Given the description of an element on the screen output the (x, y) to click on. 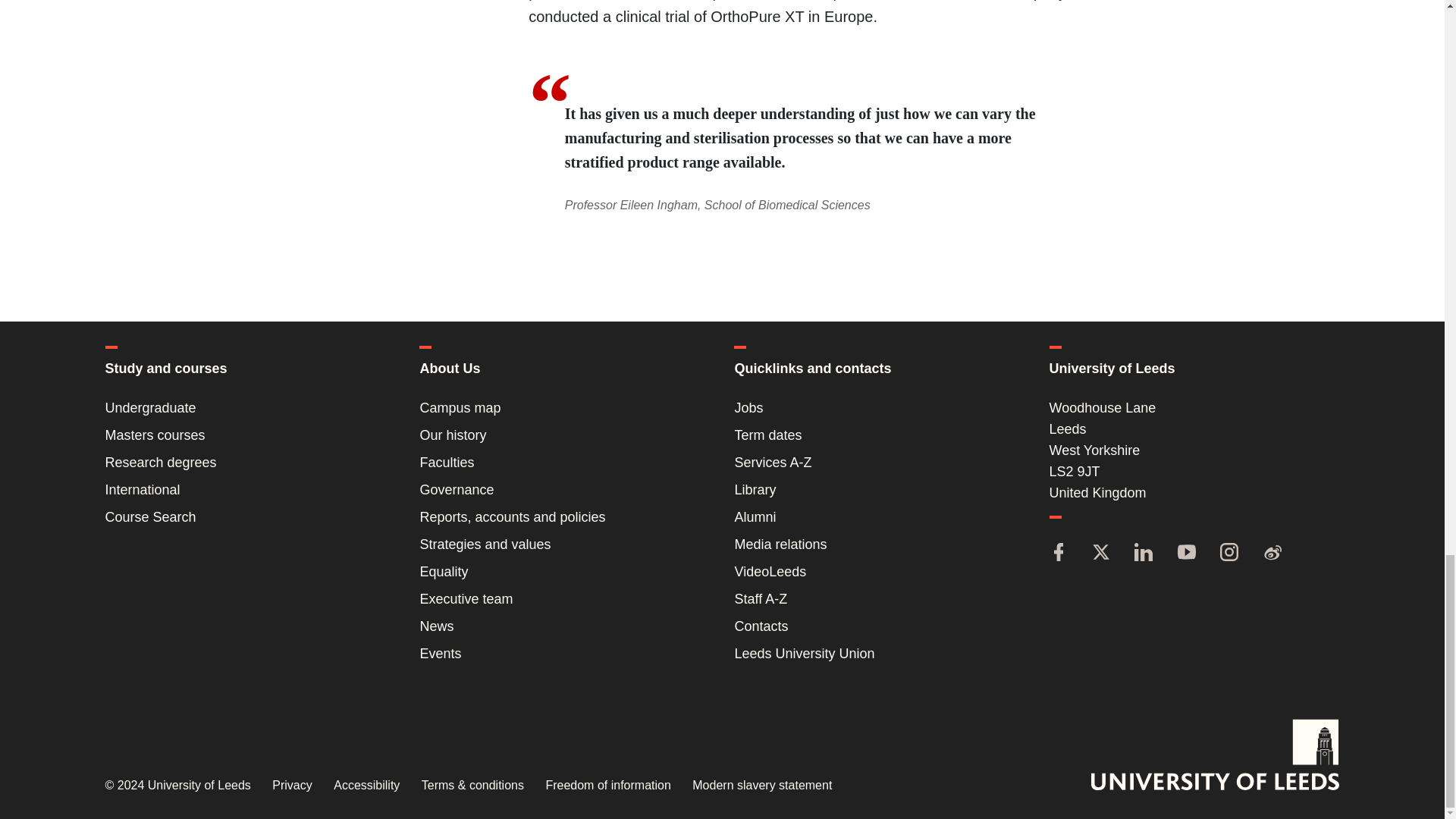
Go to Freedom of information page (606, 784)
Go to Privacy page (291, 784)
Go to Accessibility page (365, 784)
Go to Modern slavery statement page (762, 784)
